Given the description of an element on the screen output the (x, y) to click on. 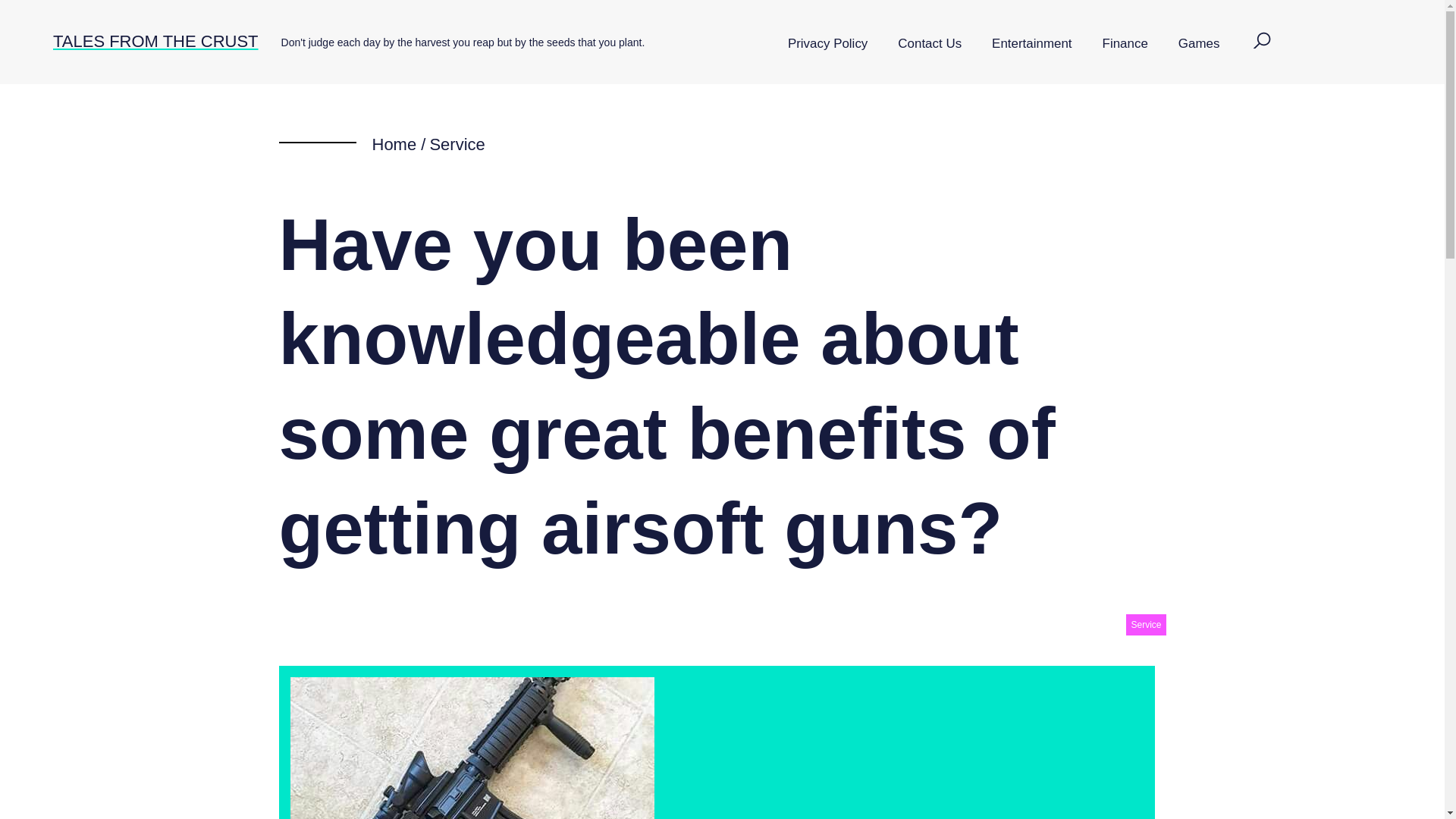
Entertainment (1031, 43)
Privacy Policy (827, 43)
Finance (1125, 43)
TALES FROM THE CRUST (155, 40)
Home (393, 144)
Service (1145, 624)
Contact Us (929, 43)
Service (456, 144)
Games (1198, 43)
